Given the description of an element on the screen output the (x, y) to click on. 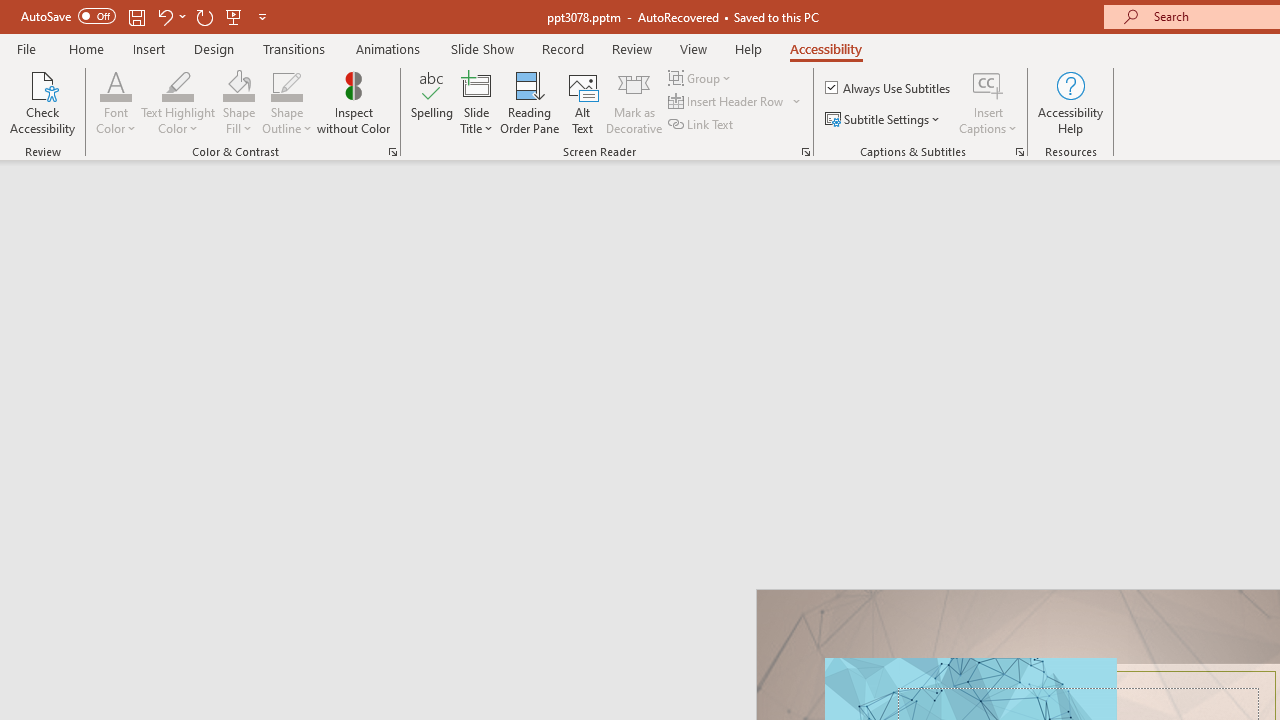
Always Use Subtitles (889, 87)
Mark as Decorative (634, 102)
